Given the description of an element on the screen output the (x, y) to click on. 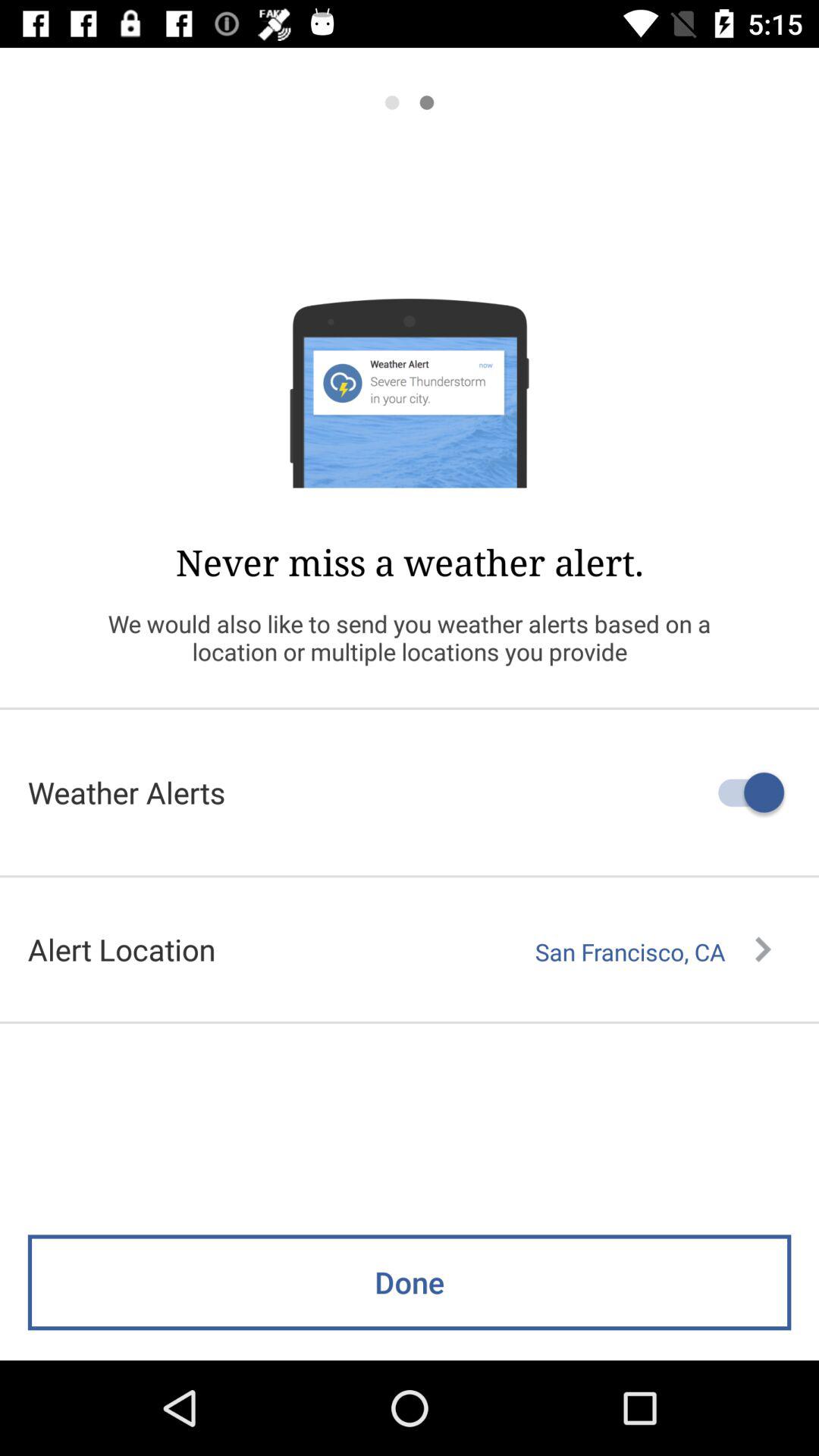
scroll until done icon (409, 1282)
